Given the description of an element on the screen output the (x, y) to click on. 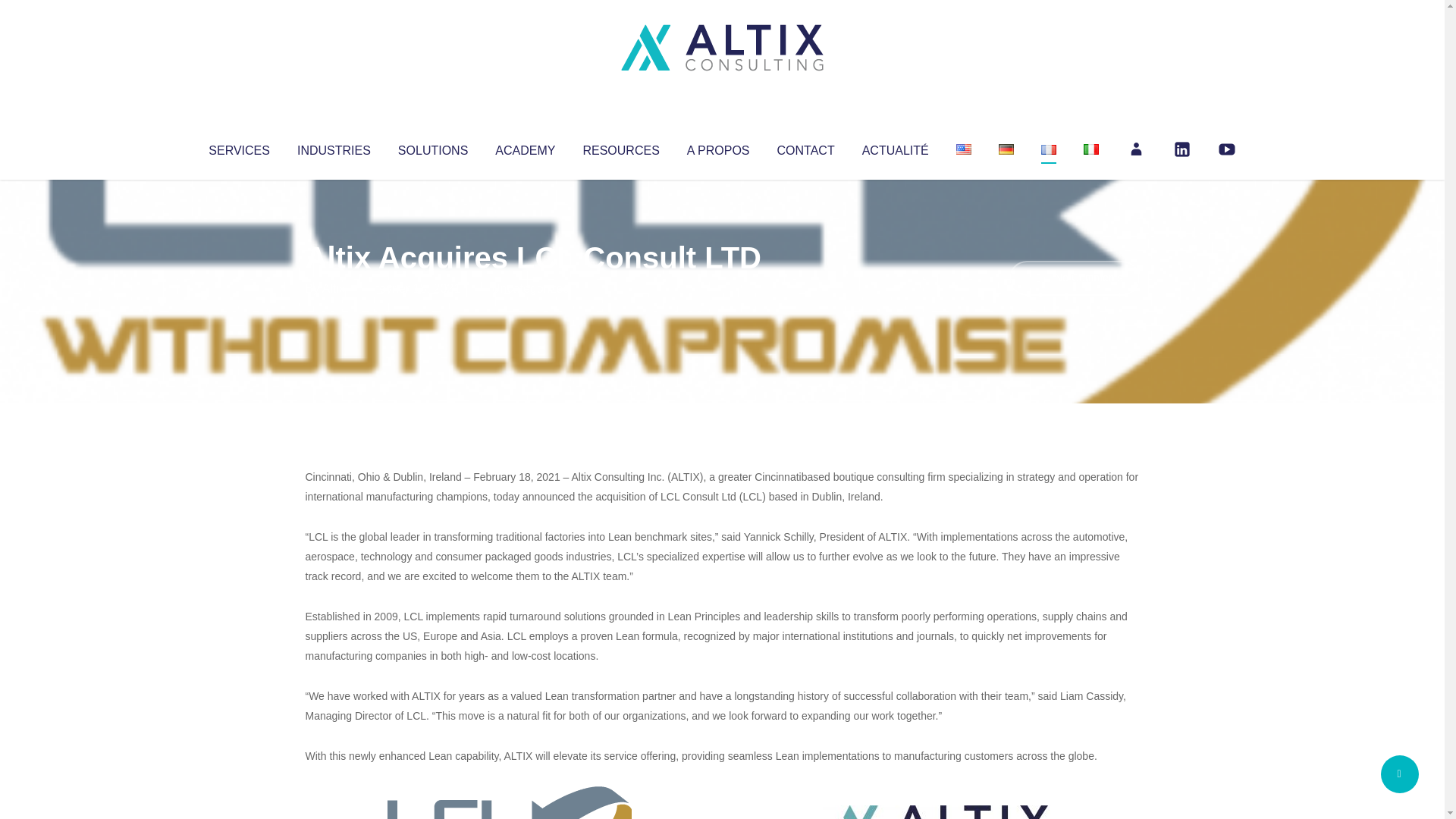
Altix (333, 287)
SERVICES (238, 146)
SOLUTIONS (432, 146)
ACADEMY (524, 146)
RESOURCES (620, 146)
A PROPOS (718, 146)
No Comments (1073, 278)
Articles par Altix (333, 287)
Uncategorized (530, 287)
INDUSTRIES (334, 146)
